Given the description of an element on the screen output the (x, y) to click on. 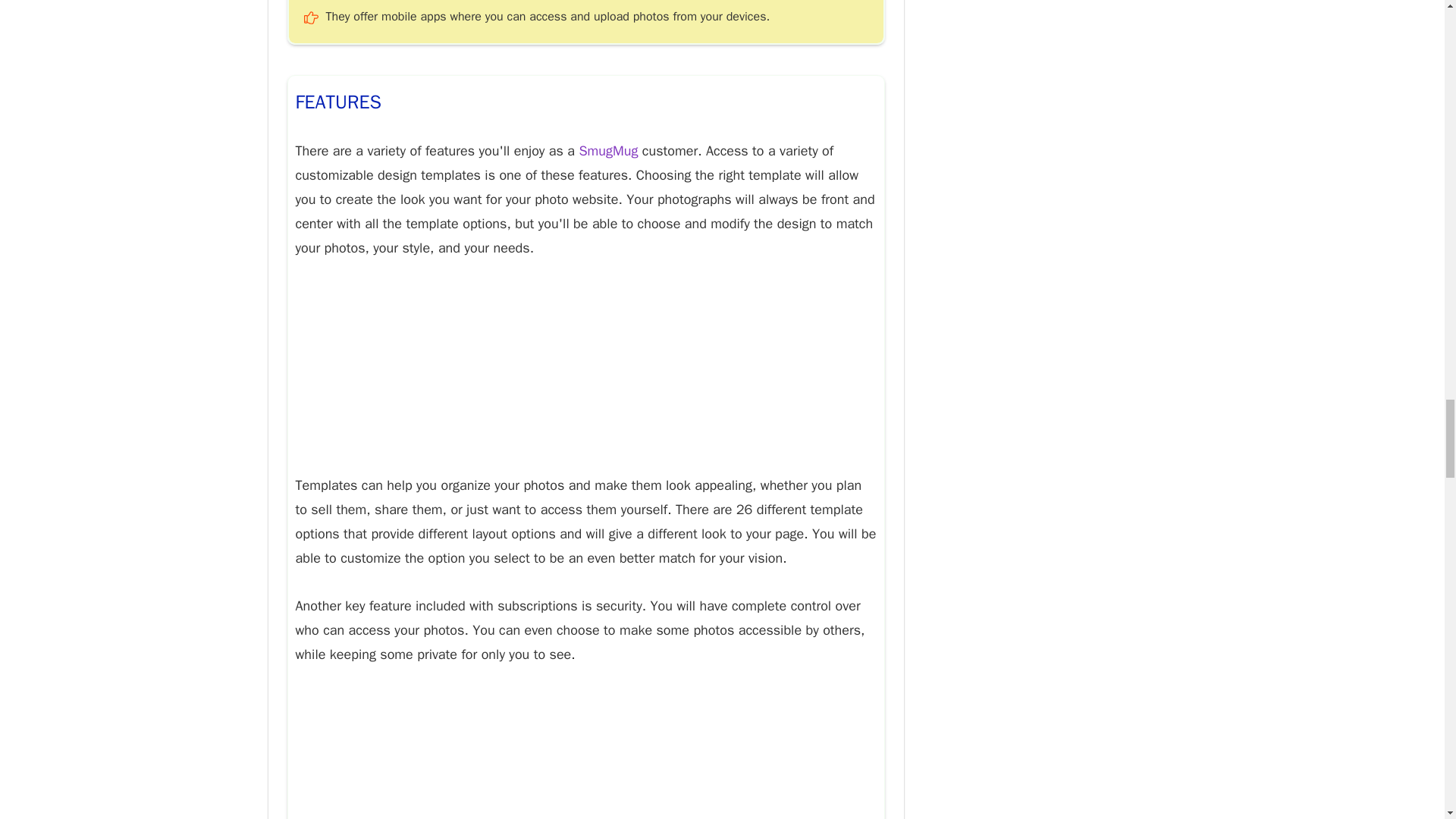
SmugMug (607, 150)
